Given the description of an element on the screen output the (x, y) to click on. 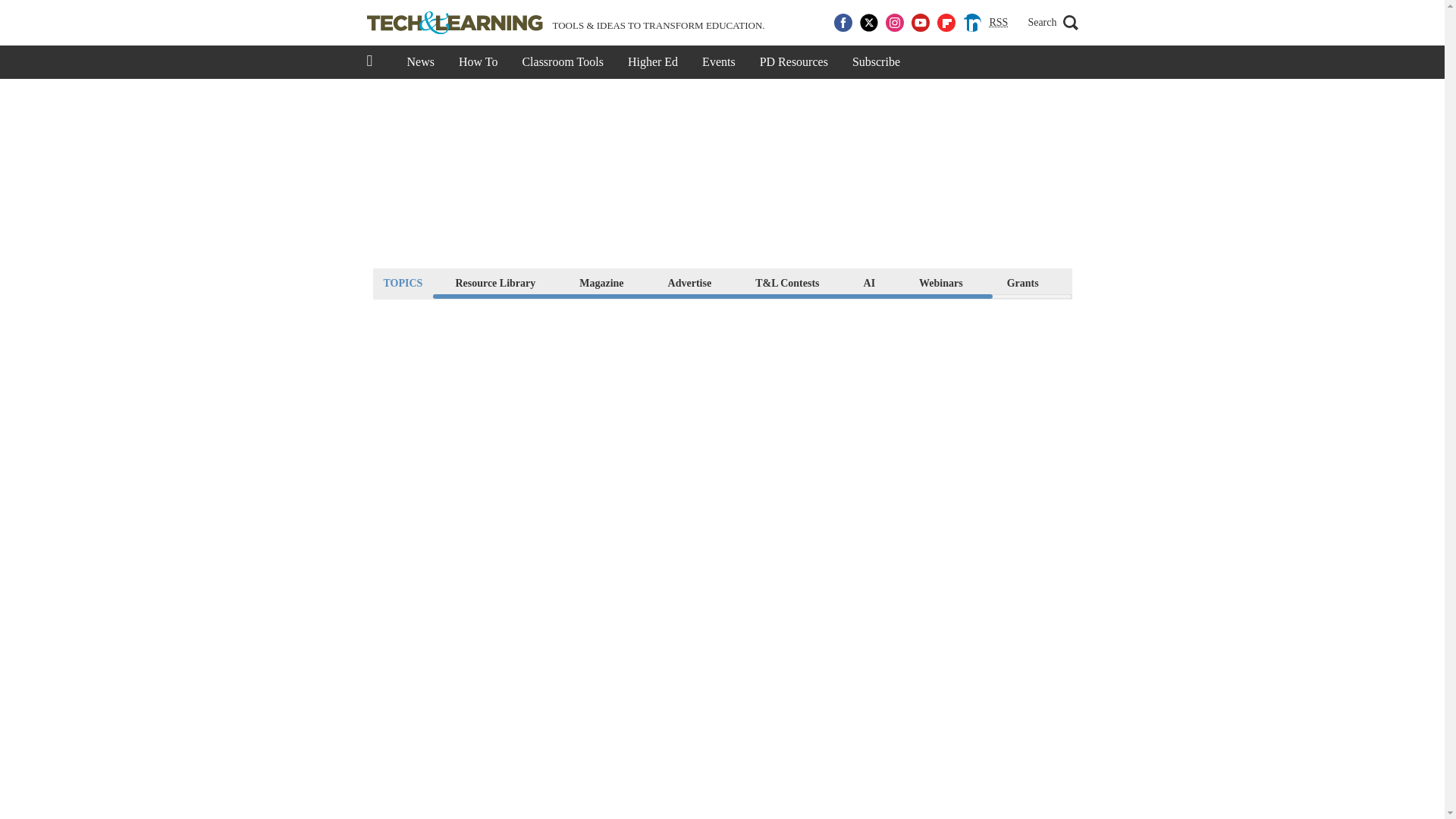
Subscribe (876, 61)
Really Simple Syndication (997, 21)
Advertise (689, 282)
Magazine (600, 282)
Webinars (941, 282)
RSS (997, 22)
News (419, 61)
Events (719, 61)
AI (869, 282)
Higher Ed (652, 61)
Resource Library (494, 282)
PD Resources (794, 61)
What to Buy (1111, 282)
Grants (1022, 282)
Classroom Tools (561, 61)
